Given the description of an element on the screen output the (x, y) to click on. 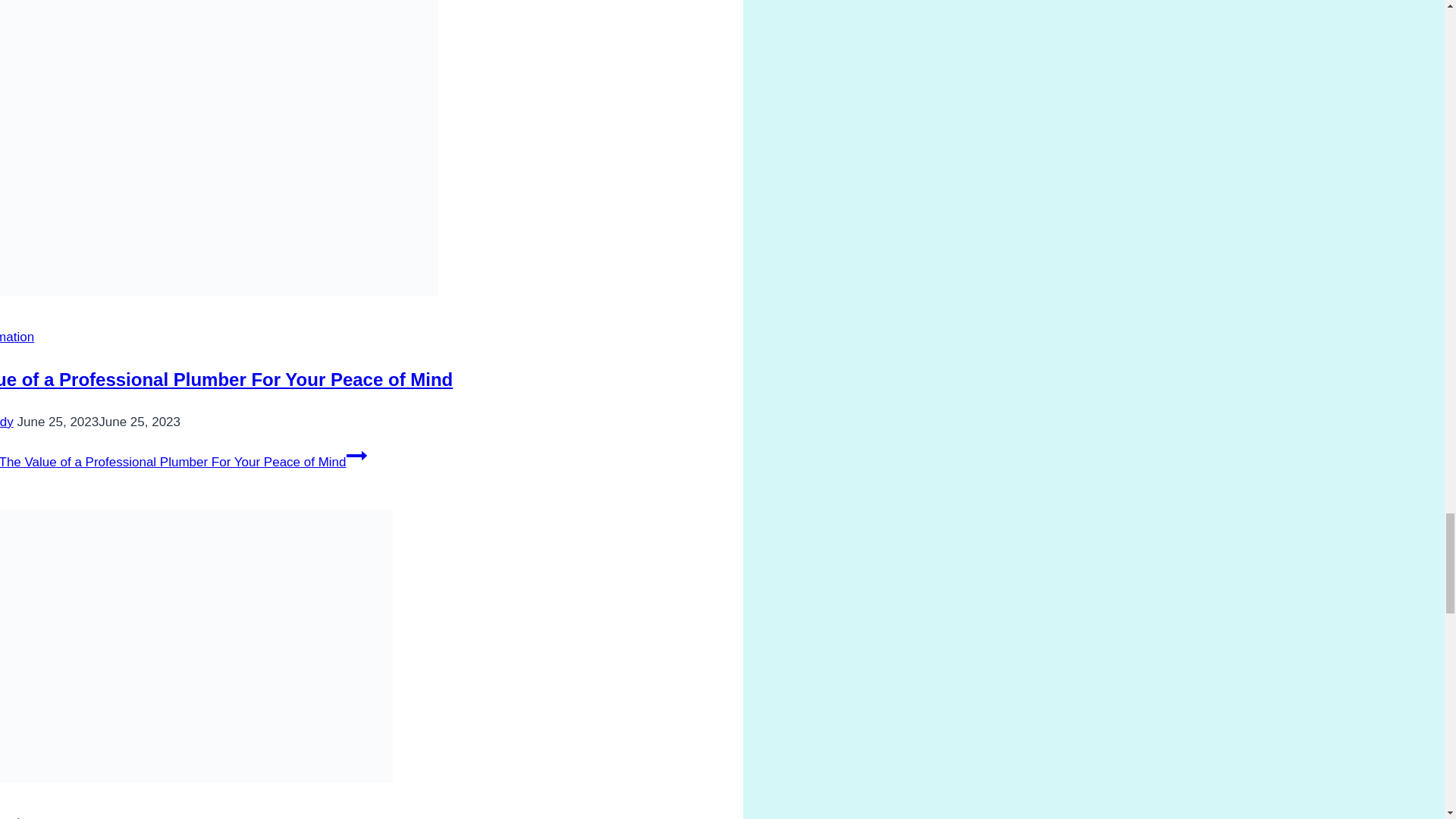
Continue (356, 455)
